Given the description of an element on the screen output the (x, y) to click on. 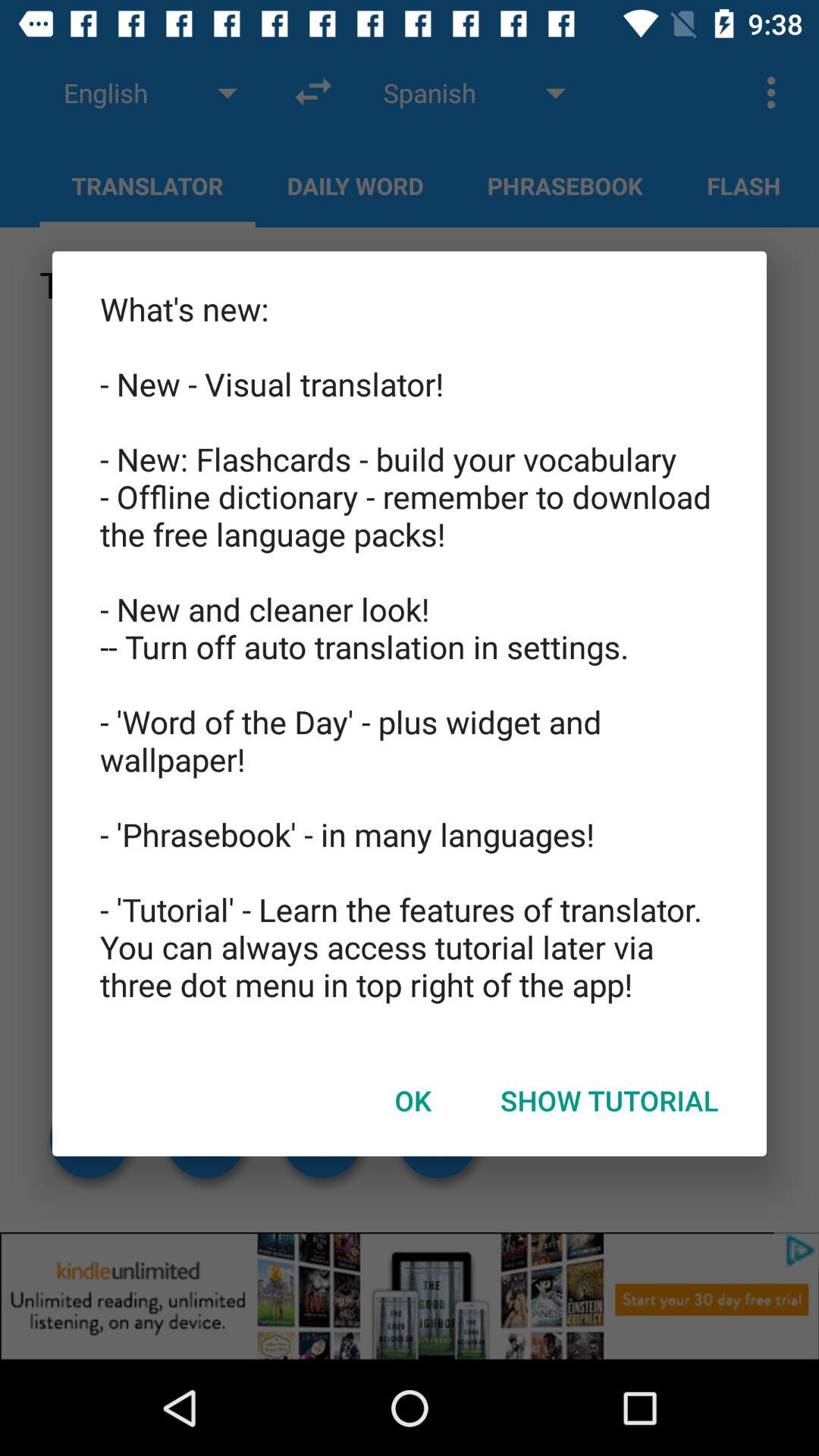
launch icon next to the ok (609, 1100)
